Given the description of an element on the screen output the (x, y) to click on. 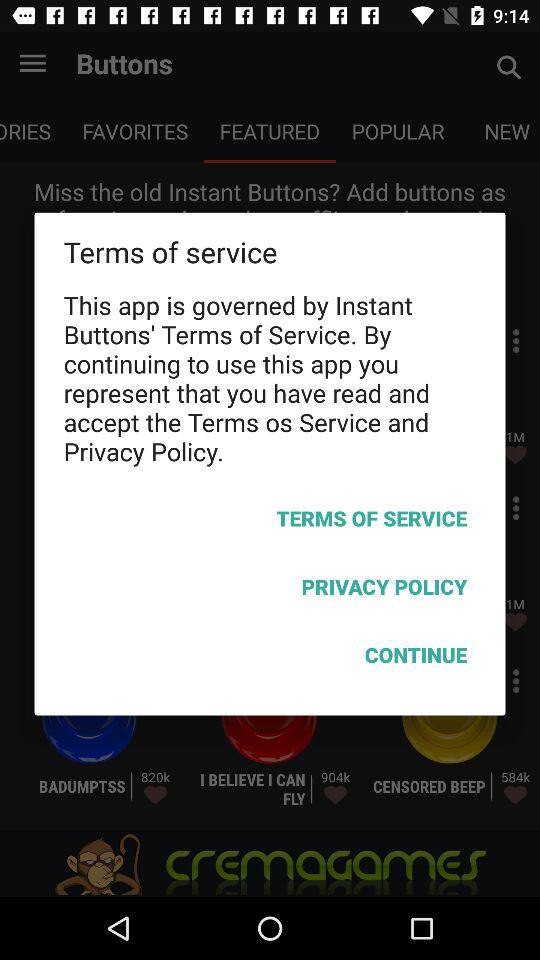
select the icon below privacy policy (269, 658)
